Given the description of an element on the screen output the (x, y) to click on. 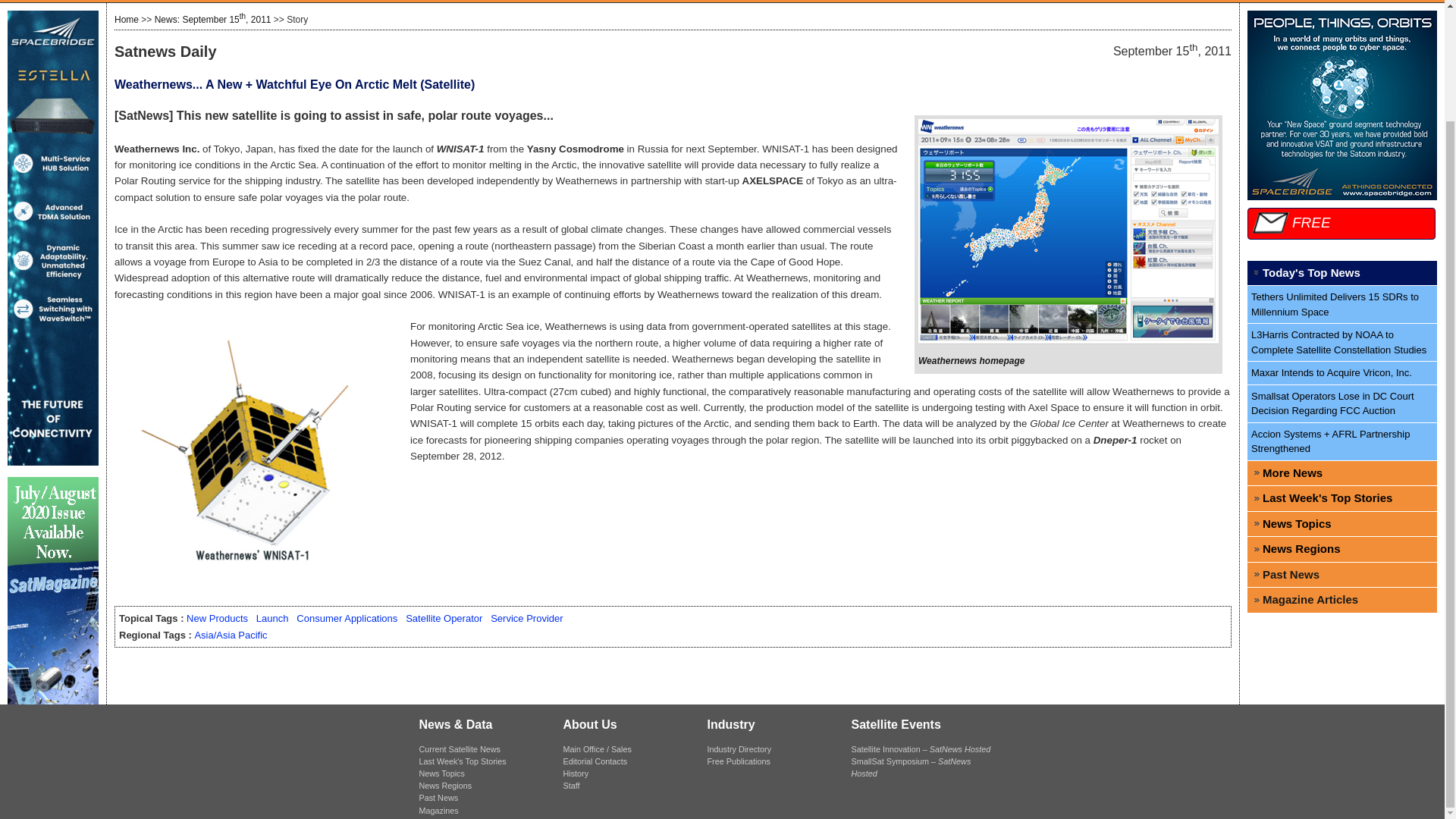
Service Provider (526, 618)
Maxar Intends to Acquire Vricon, Inc. (1342, 372)
Consumer Applications (347, 618)
Launch (272, 618)
Home (126, 19)
Weathernews homepage (971, 360)
Satellite Operator (443, 618)
News: September 15th, 2011 (212, 19)
Tethers Unlimited Delivers 15 SDRs to Millennium Space (1342, 304)
New Products (216, 618)
